Given the description of an element on the screen output the (x, y) to click on. 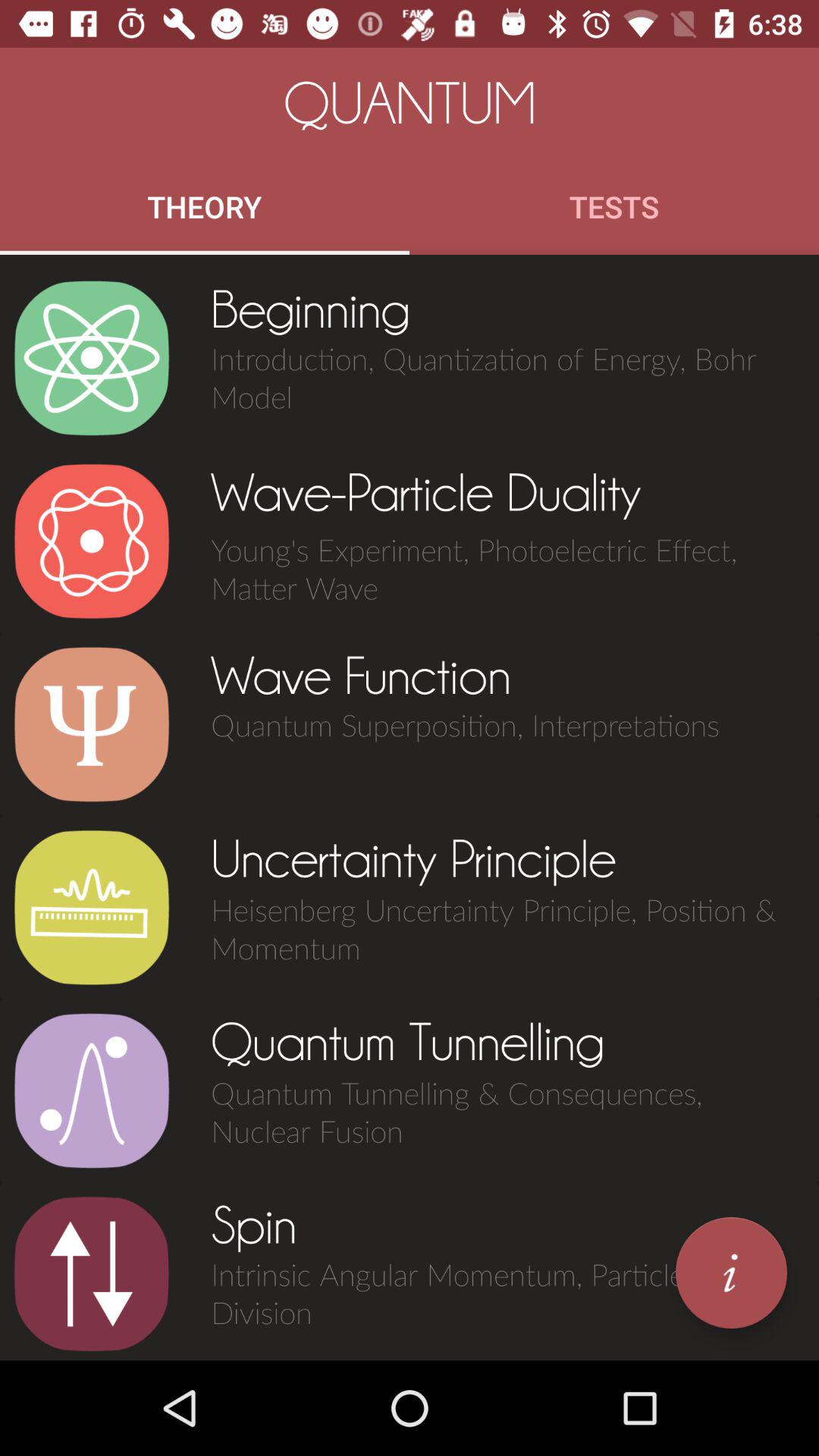
go back (91, 1273)
